Given the description of an element on the screen output the (x, y) to click on. 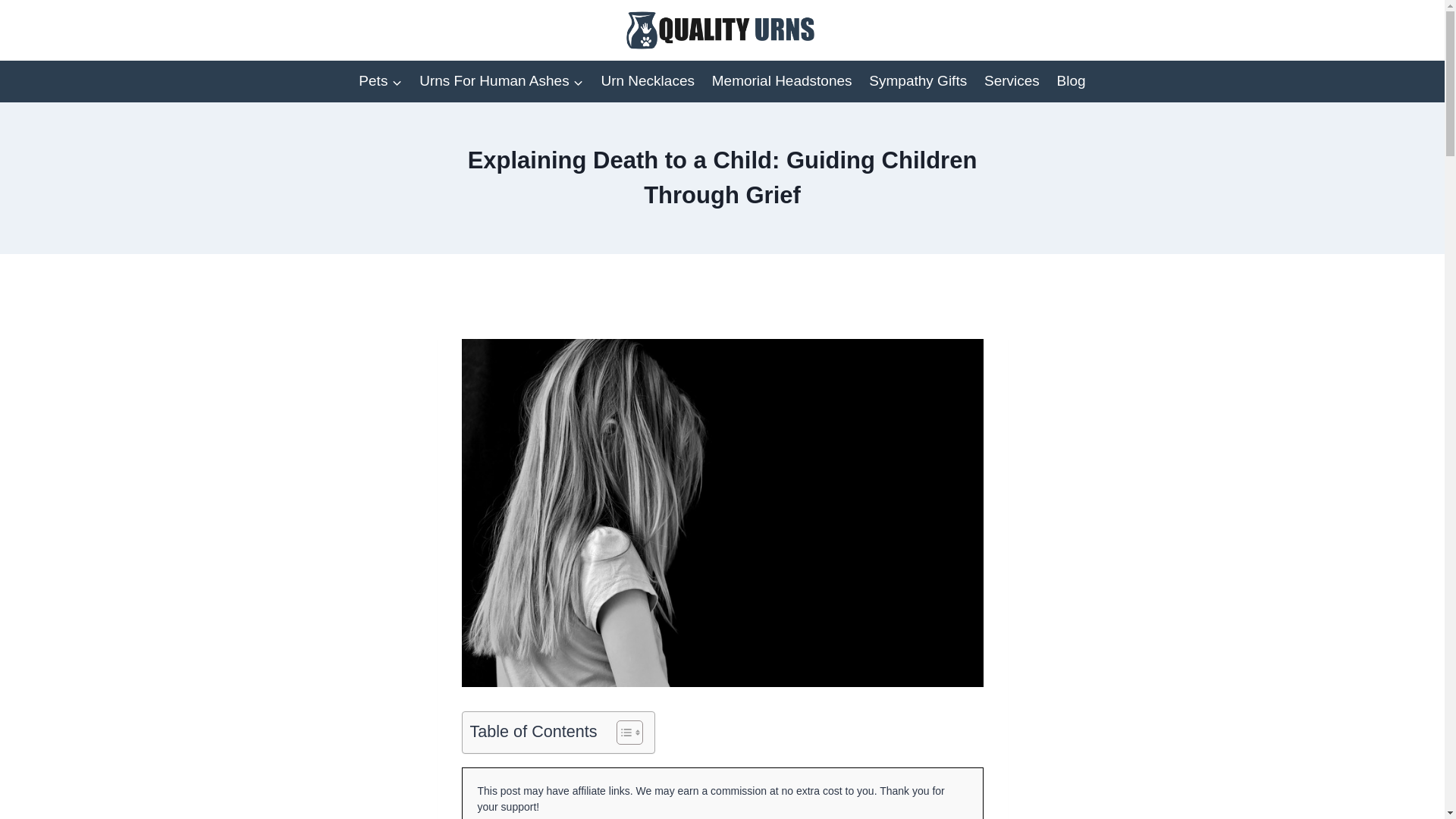
Pets (380, 81)
Services (1011, 81)
Blog (1071, 81)
Memorial Headstones (781, 81)
Sympathy Gifts (917, 81)
Urns For Human Ashes (501, 81)
Urn Necklaces (647, 81)
